Given the description of an element on the screen output the (x, y) to click on. 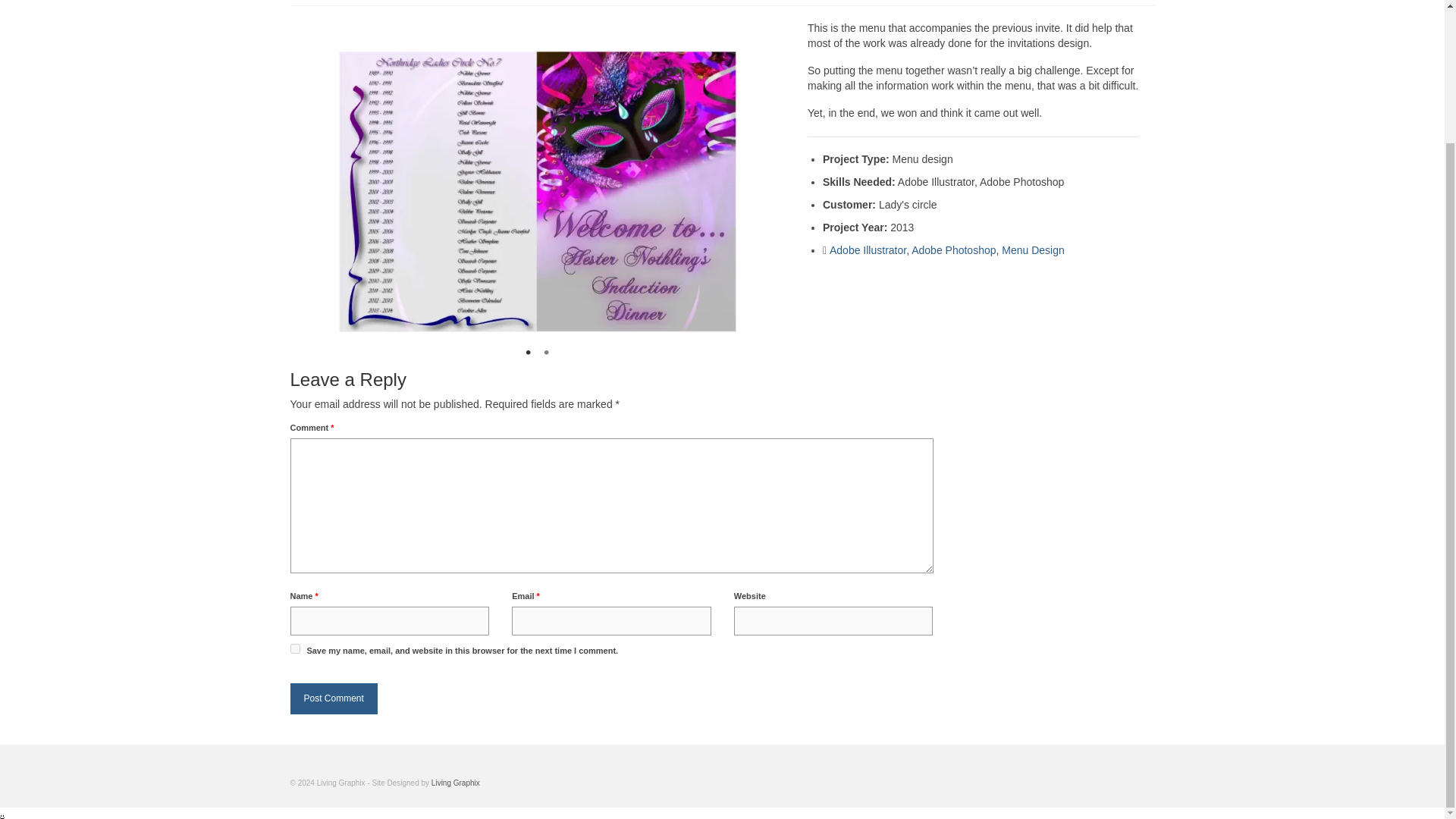
yes (294, 648)
Post Comment (333, 698)
